Given the description of an element on the screen output the (x, y) to click on. 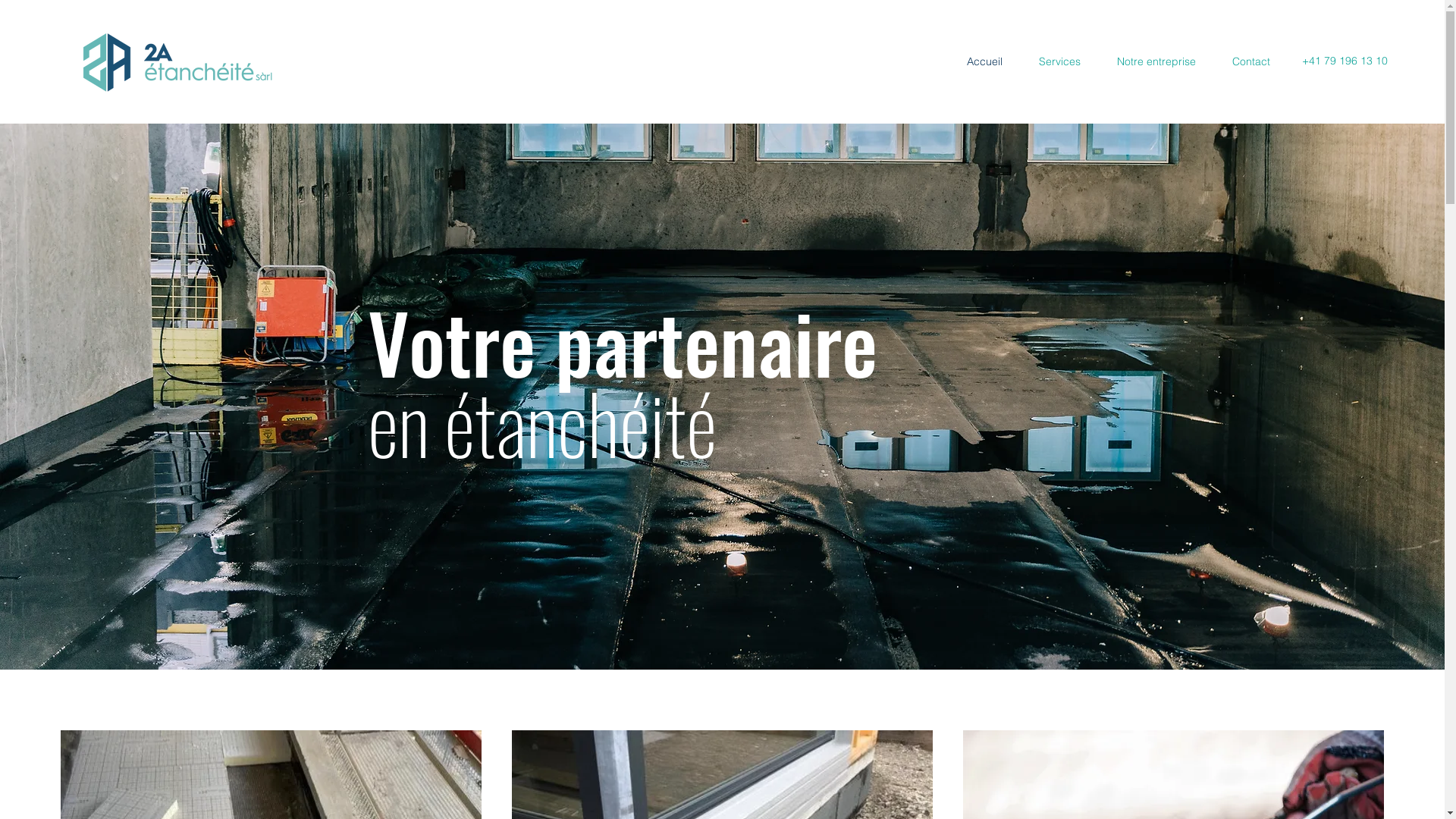
Accueil Element type: text (974, 61)
Notre entreprise Element type: text (1145, 61)
Services Element type: text (1049, 61)
Contact Element type: text (1240, 61)
